Given the description of an element on the screen output the (x, y) to click on. 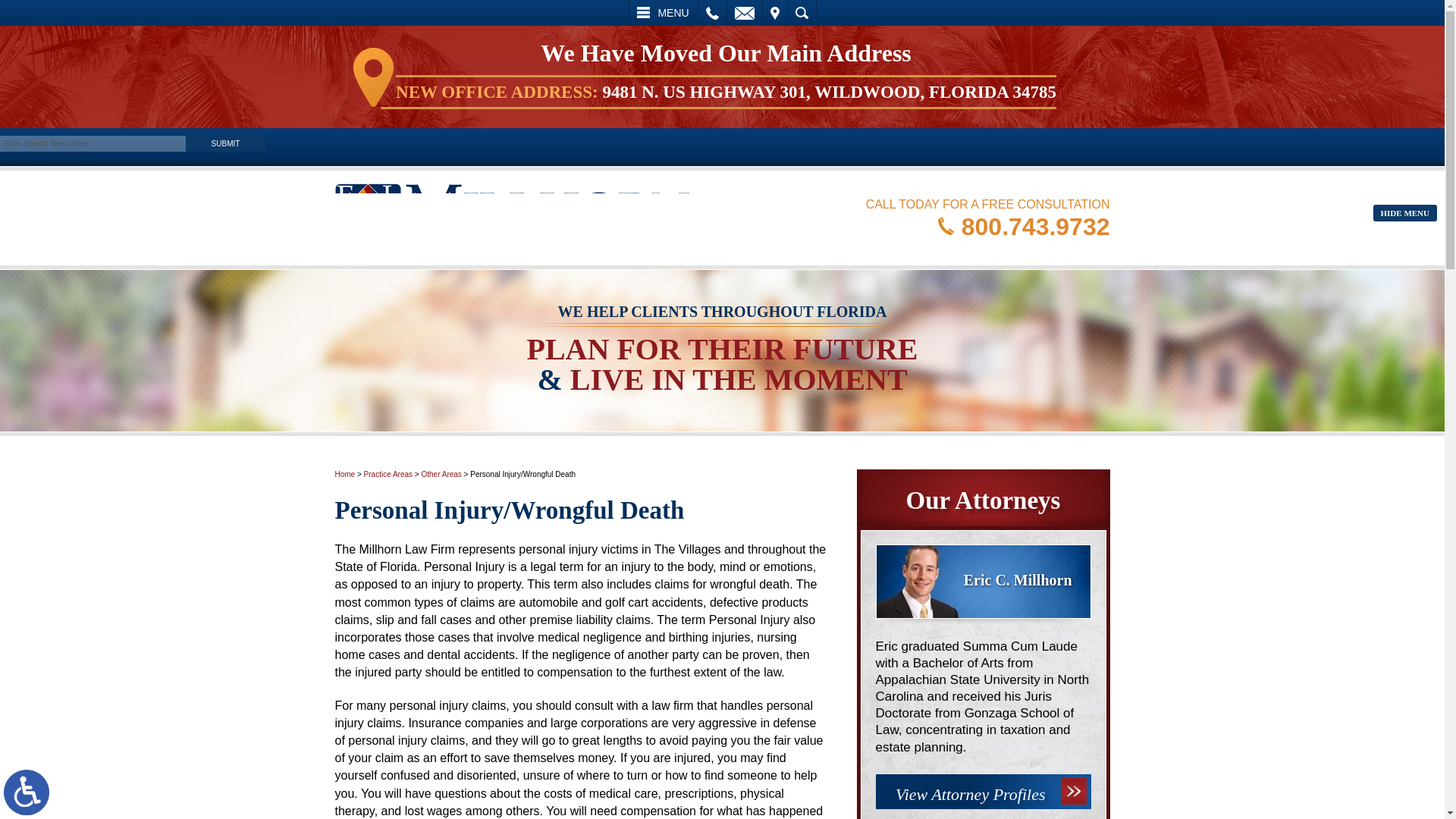
Switch to ADA Accessible Theme (26, 791)
Submit (225, 143)
Other Areas (440, 474)
MENU (662, 12)
Submit (225, 143)
HIDE MENU (1405, 212)
VISIT (774, 12)
800.743.9732 (1023, 225)
SEMINARS (790, 177)
Practice Areas (388, 474)
